Given the description of an element on the screen output the (x, y) to click on. 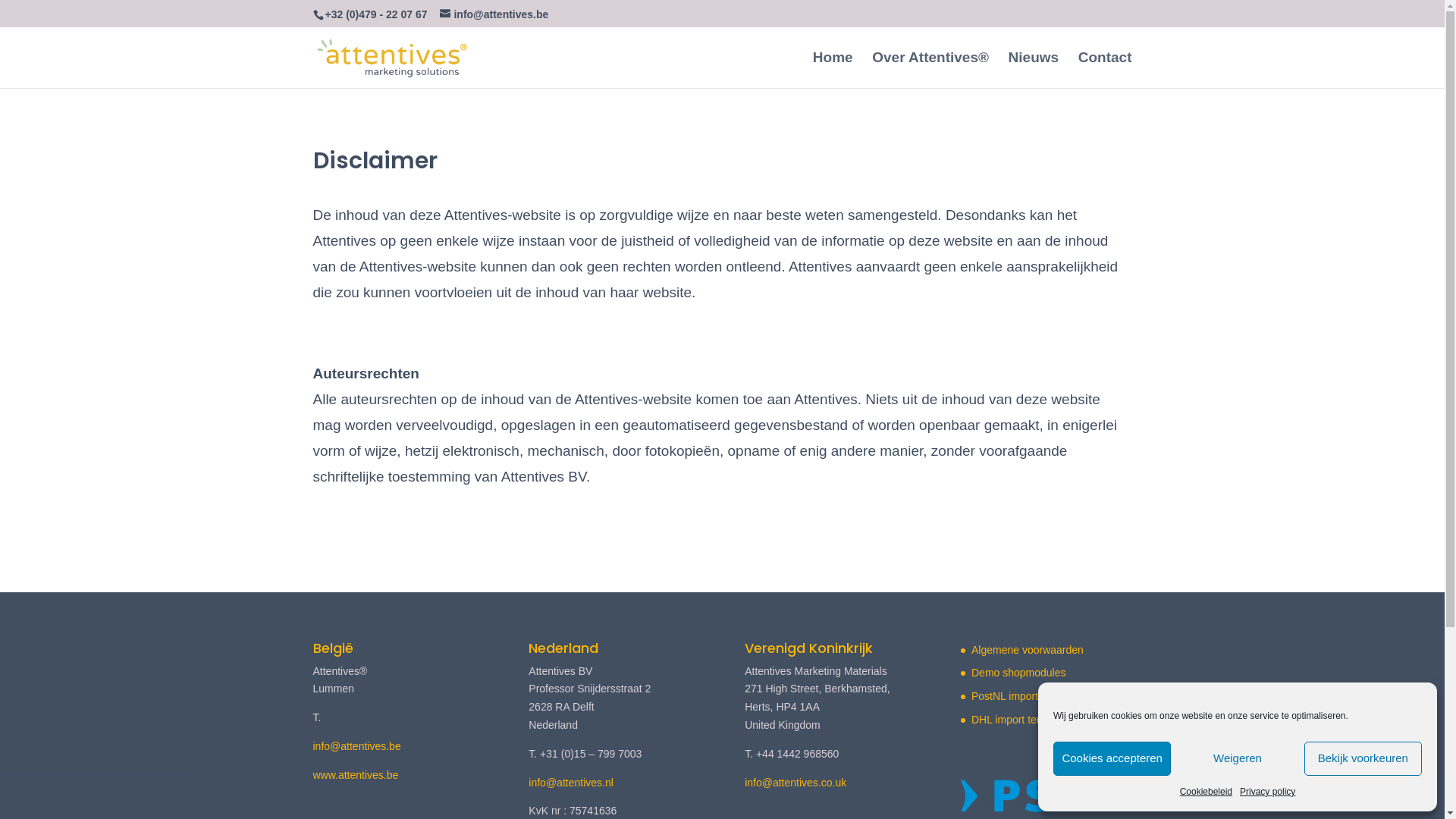
info@attentives.be Element type: text (356, 746)
Weigeren Element type: text (1236, 758)
www.attentives.be Element type: text (355, 774)
Privacy policy Element type: text (1267, 791)
info@attentives.nl Element type: text (570, 782)
Contact Element type: text (1105, 69)
DHL import template Element type: text (1019, 719)
info@attentives.be Element type: text (493, 13)
Nieuws Element type: text (1033, 69)
Cookiebeleid Element type: text (1205, 791)
Cookies accepteren Element type: text (1111, 758)
Home Element type: text (832, 69)
info@attentives.co.uk Element type: text (795, 782)
PostNL import template Element type: text (1026, 696)
Demo shopmodules Element type: text (1018, 672)
Bekijk voorkeuren Element type: text (1362, 758)
Algemene voorwaarden Element type: text (1027, 649)
